Given the description of an element on the screen output the (x, y) to click on. 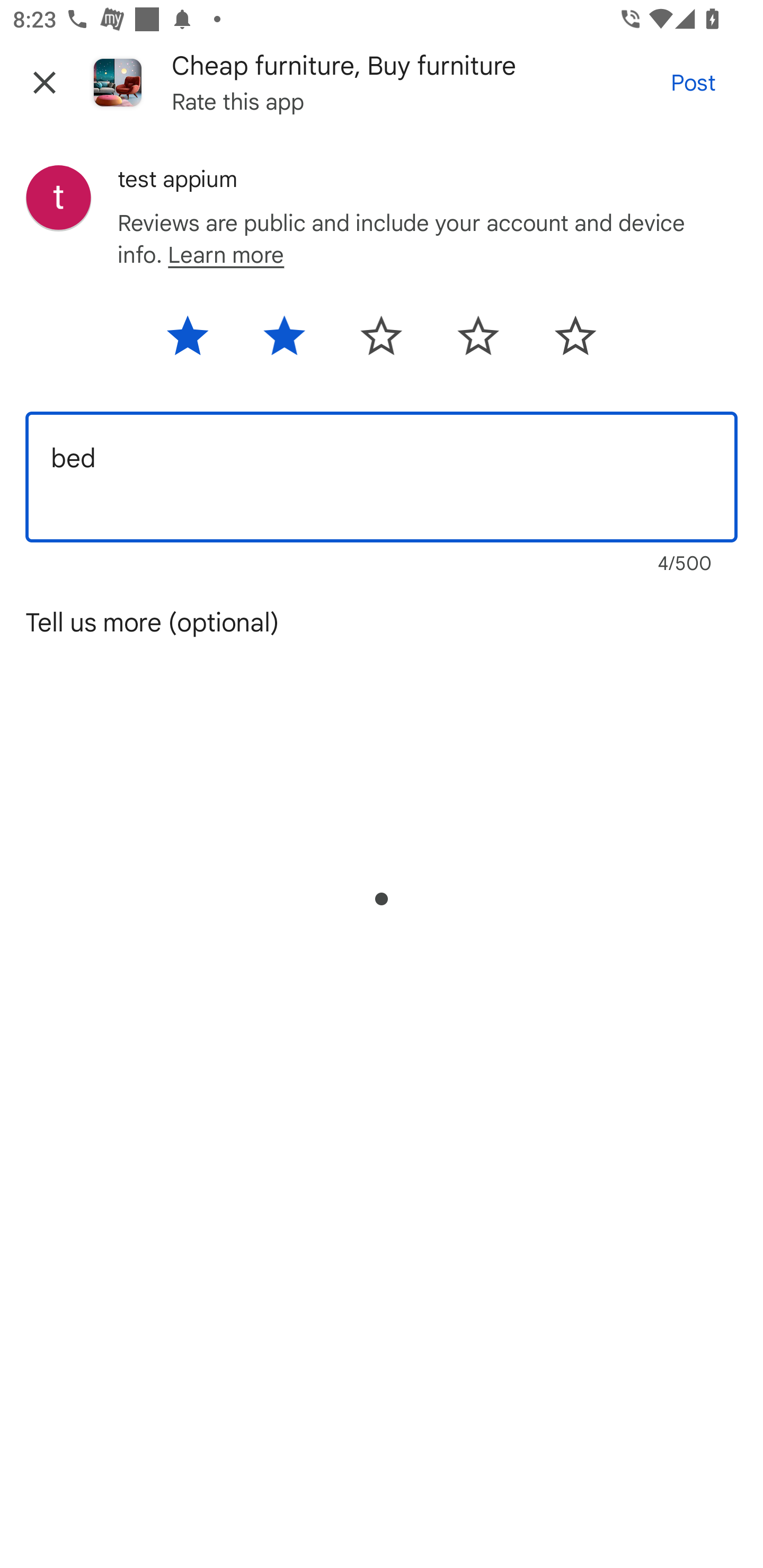
Close (44, 82)
Post (692, 81)
First star selected (198, 341)
Second star selected (283, 341)
Third star unselected (380, 341)
Fourth star unselected (477, 341)
Fifth star unselected (563, 341)
bed
 (381, 476)
